Given the description of an element on the screen output the (x, y) to click on. 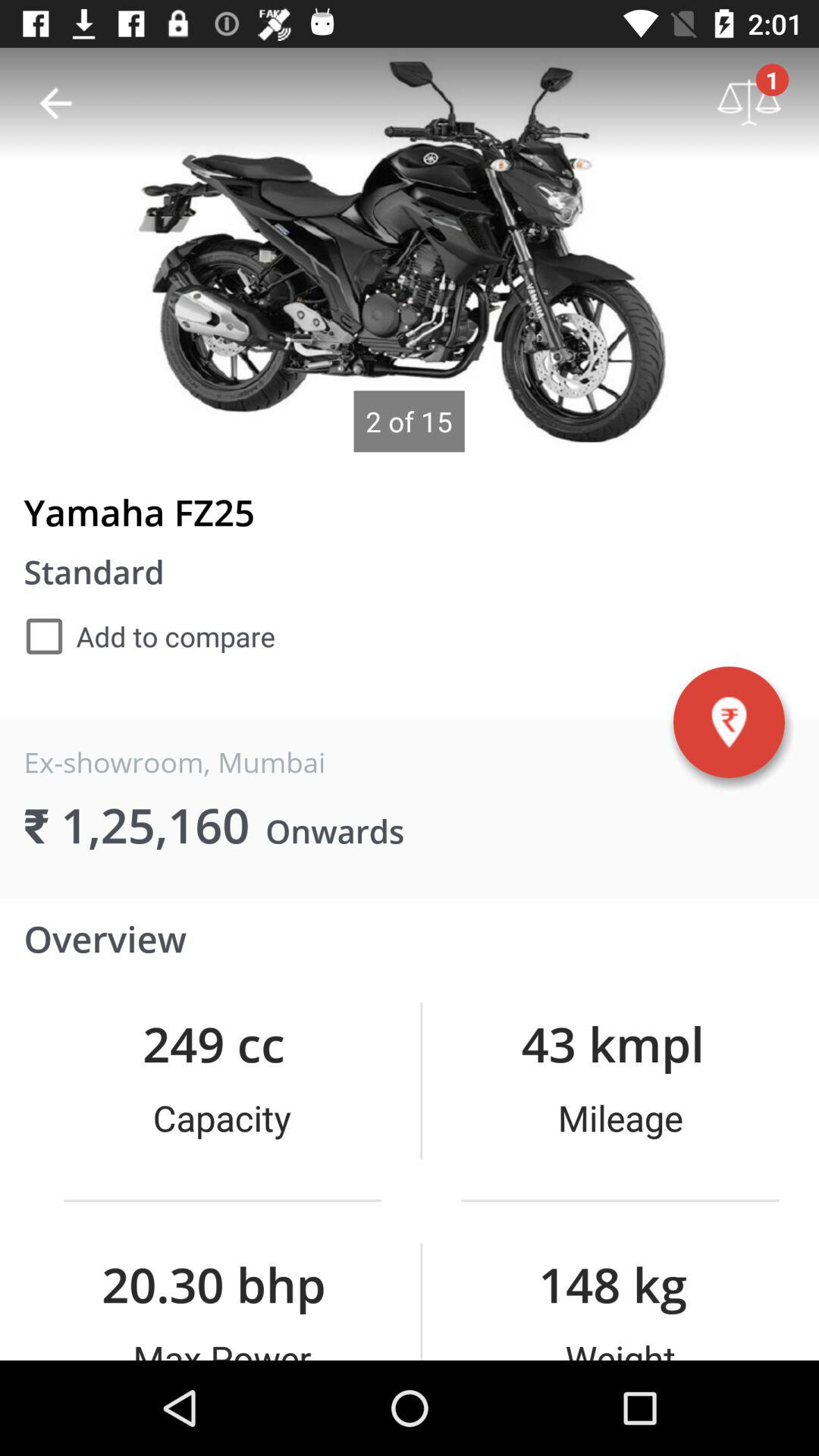
press the icon below the standard item (149, 636)
